Given the description of an element on the screen output the (x, y) to click on. 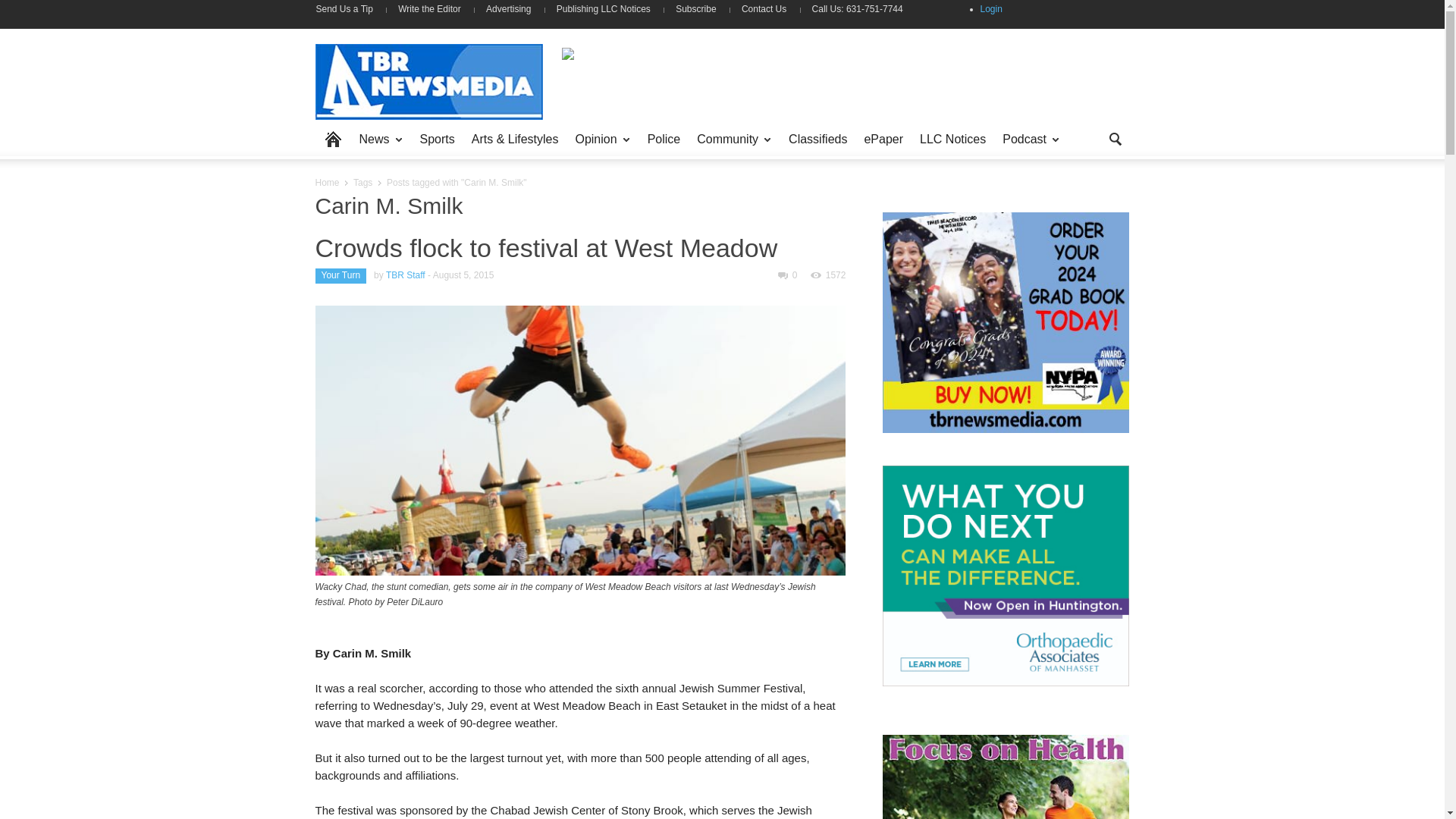
Moloney FH (836, 80)
Send Us a Tip (349, 9)
Contact Us (763, 9)
Write the Editor (429, 9)
Crowds flock to festival at West Meadow (546, 247)
Advertising (507, 9)
Orthopaedic Associates of Manhasset (1005, 576)
